Given the description of an element on the screen output the (x, y) to click on. 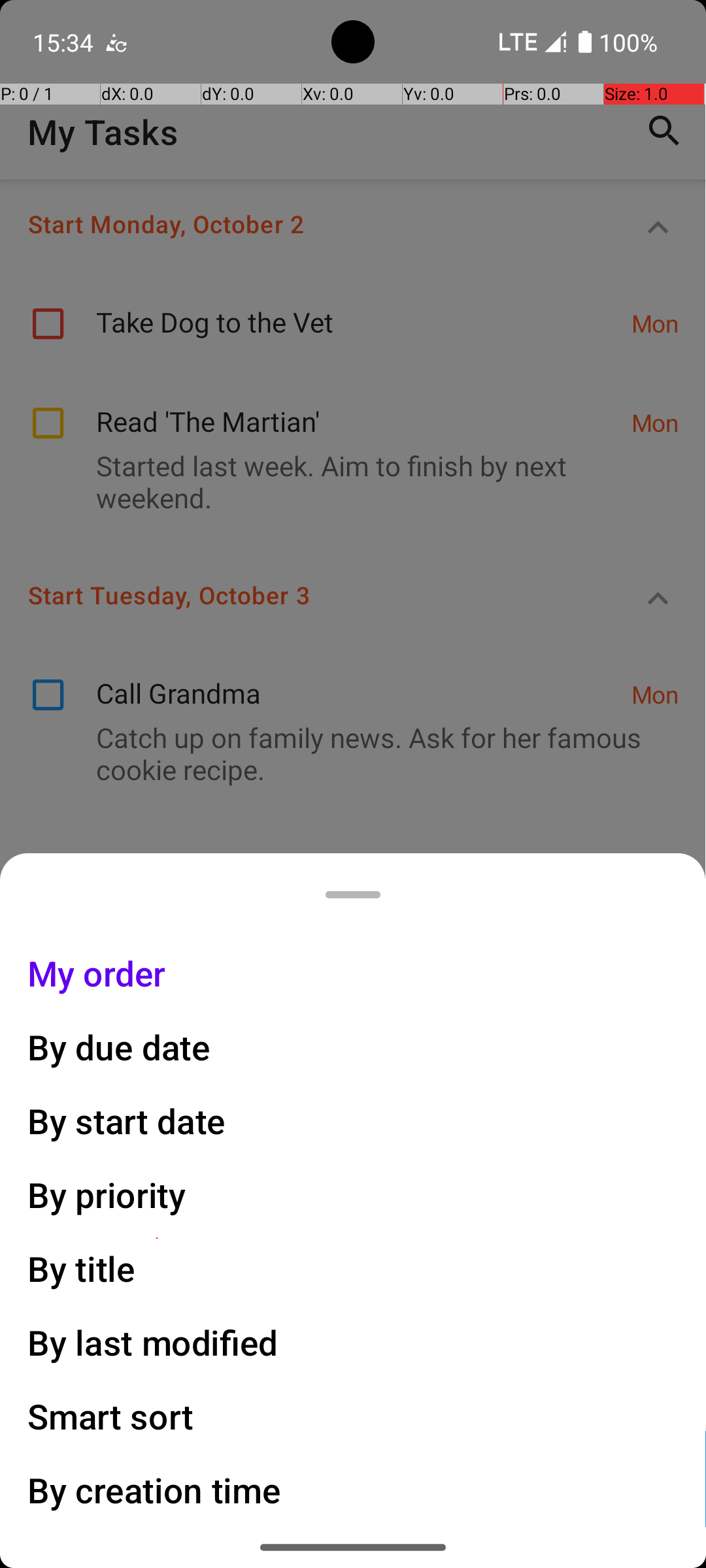
Drag handle Element type: android.view.View (352, 894)
My order Element type: android.widget.TextView (96, 972)
By due date Element type: android.widget.TextView (119, 1046)
By start date Element type: android.widget.TextView (126, 1120)
By priority Element type: android.widget.TextView (106, 1194)
By title Element type: android.widget.TextView (81, 1268)
By last modified Element type: android.widget.TextView (152, 1342)
Smart sort Element type: android.widget.TextView (110, 1415)
By creation time Element type: android.widget.TextView (154, 1489)
